Given the description of an element on the screen output the (x, y) to click on. 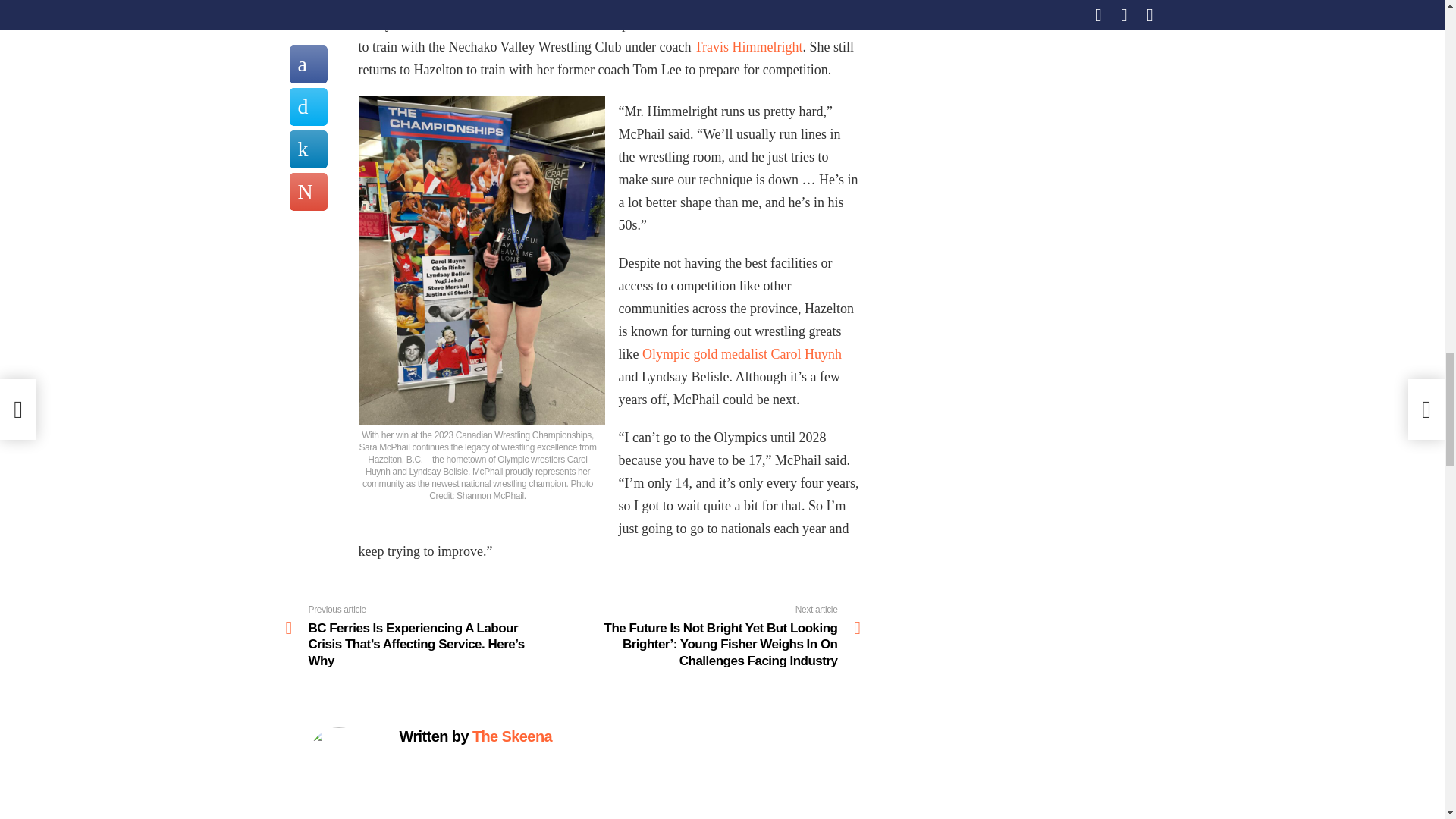
Travis Himmelright (748, 46)
Olympic gold medalist Carol Huynh (741, 353)
The Skeena (511, 736)
